Given the description of an element on the screen output the (x, y) to click on. 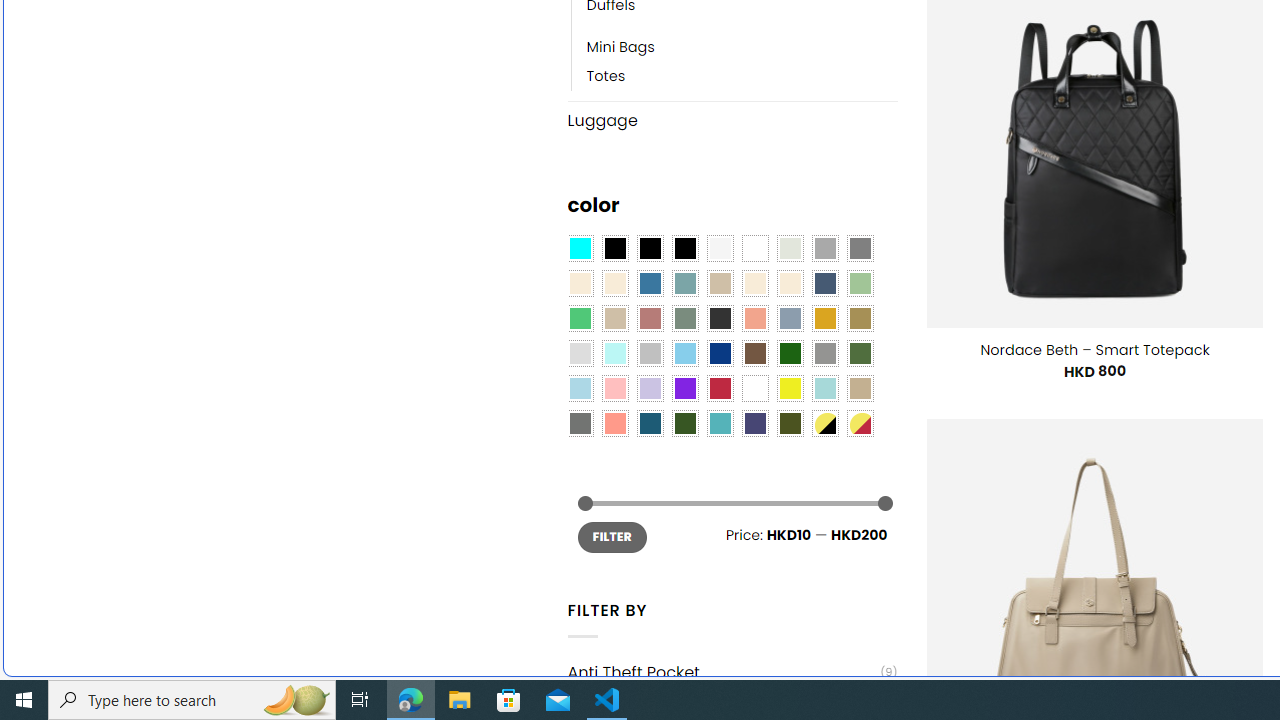
Silver (650, 354)
Purple Navy (755, 424)
Light Taupe (614, 318)
Ash Gray (789, 249)
Peach Pink (614, 424)
Forest (684, 424)
Sage (684, 318)
All Black (614, 249)
Totes (605, 76)
Pearly White (719, 249)
Gray (824, 354)
Navy Blue (719, 354)
Totes (742, 76)
All Gray (859, 249)
Beige (579, 283)
